Given the description of an element on the screen output the (x, y) to click on. 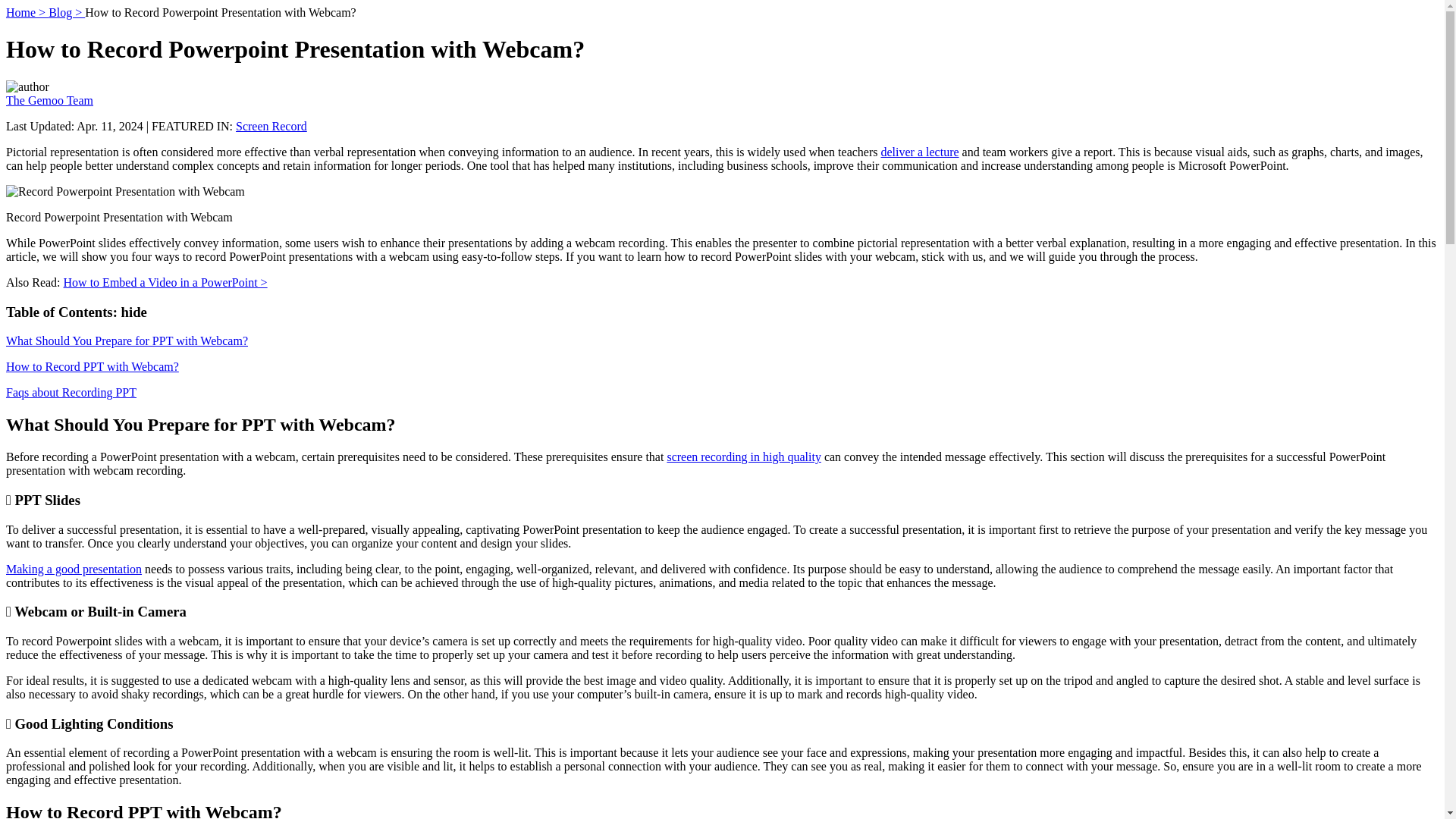
How to Record PPT with Webcam? (92, 366)
deliver a lecture (919, 151)
Faqs about Recording PPT (70, 391)
The Gemoo Team (49, 100)
screen recording in high quality (743, 456)
What Should You Prepare for PPT with Webcam? (126, 340)
Screen Record (271, 125)
Making a good presentation (73, 568)
Posts by The Gemoo Team (49, 100)
